Given the description of an element on the screen output the (x, y) to click on. 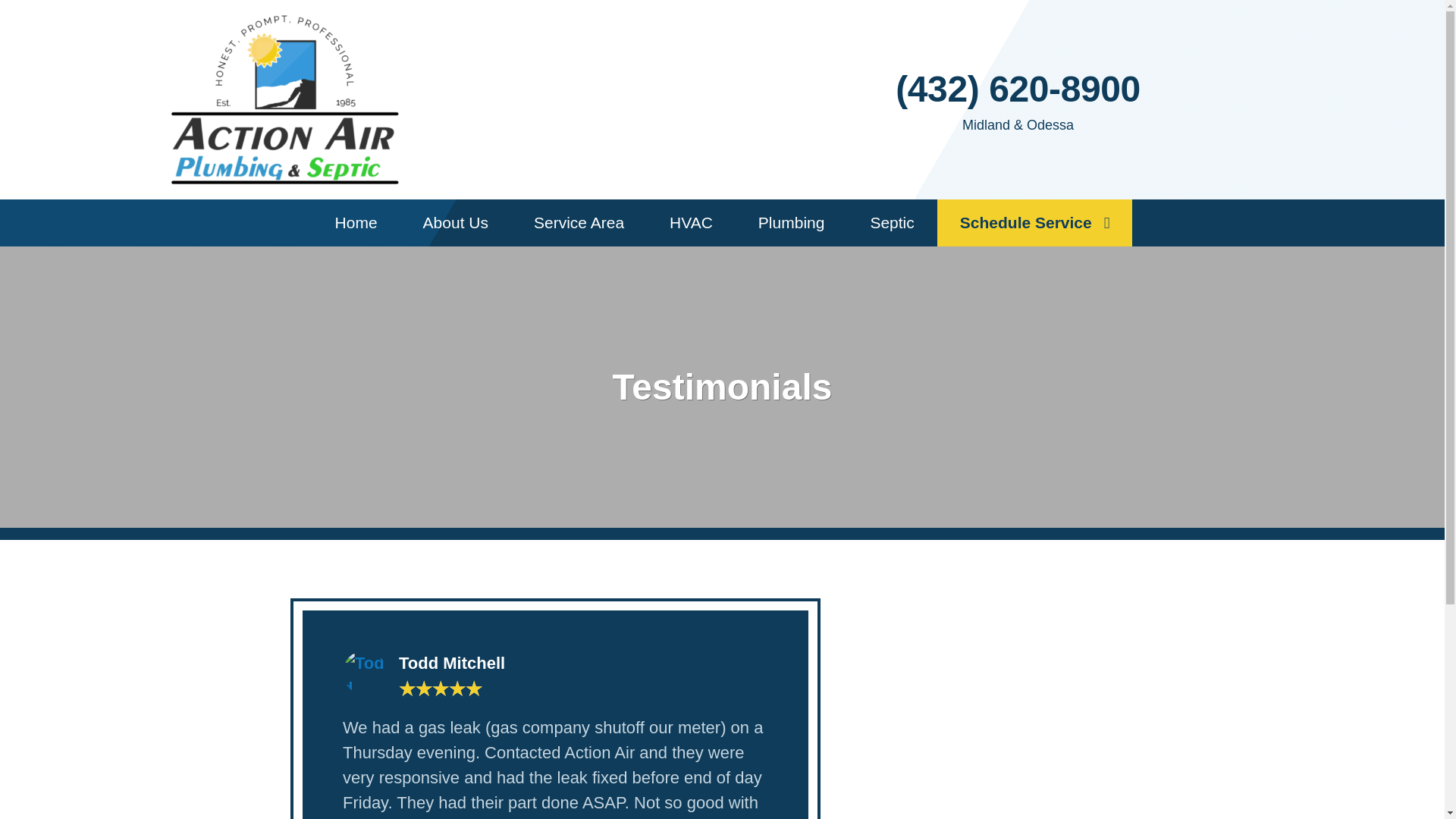
Septic (891, 222)
Plumbing (791, 222)
Service Area (578, 222)
Home (356, 222)
About Us (455, 222)
HVAC (690, 222)
